Given the description of an element on the screen output the (x, y) to click on. 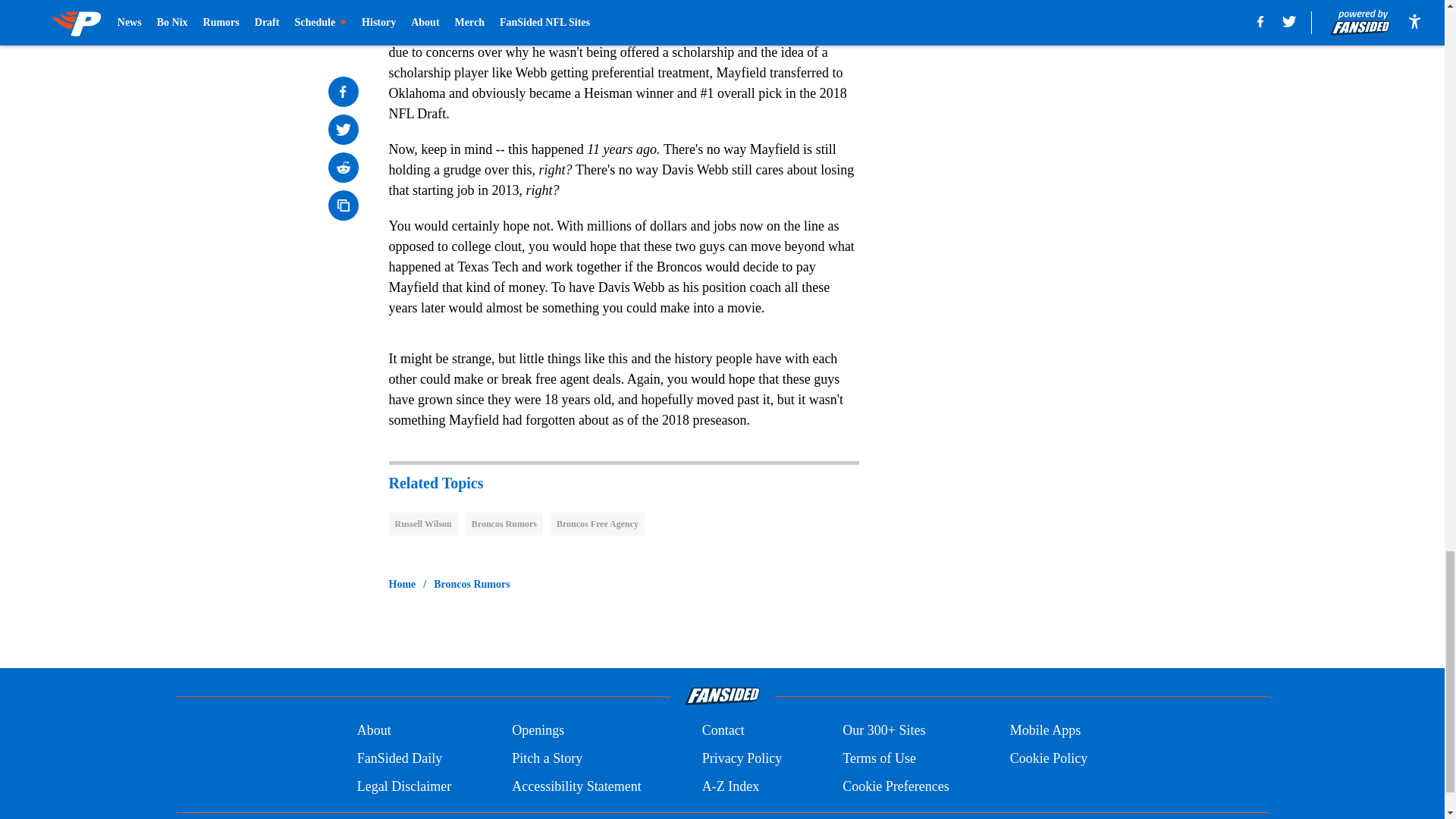
About (373, 730)
Russell Wilson (422, 523)
Cookie Policy (1048, 758)
Mobile Apps (1045, 730)
Broncos Rumors (471, 584)
Broncos Rumors (504, 523)
Contact (722, 730)
Terms of Use (879, 758)
Openings (538, 730)
Pitch a Story (547, 758)
